Given the description of an element on the screen output the (x, y) to click on. 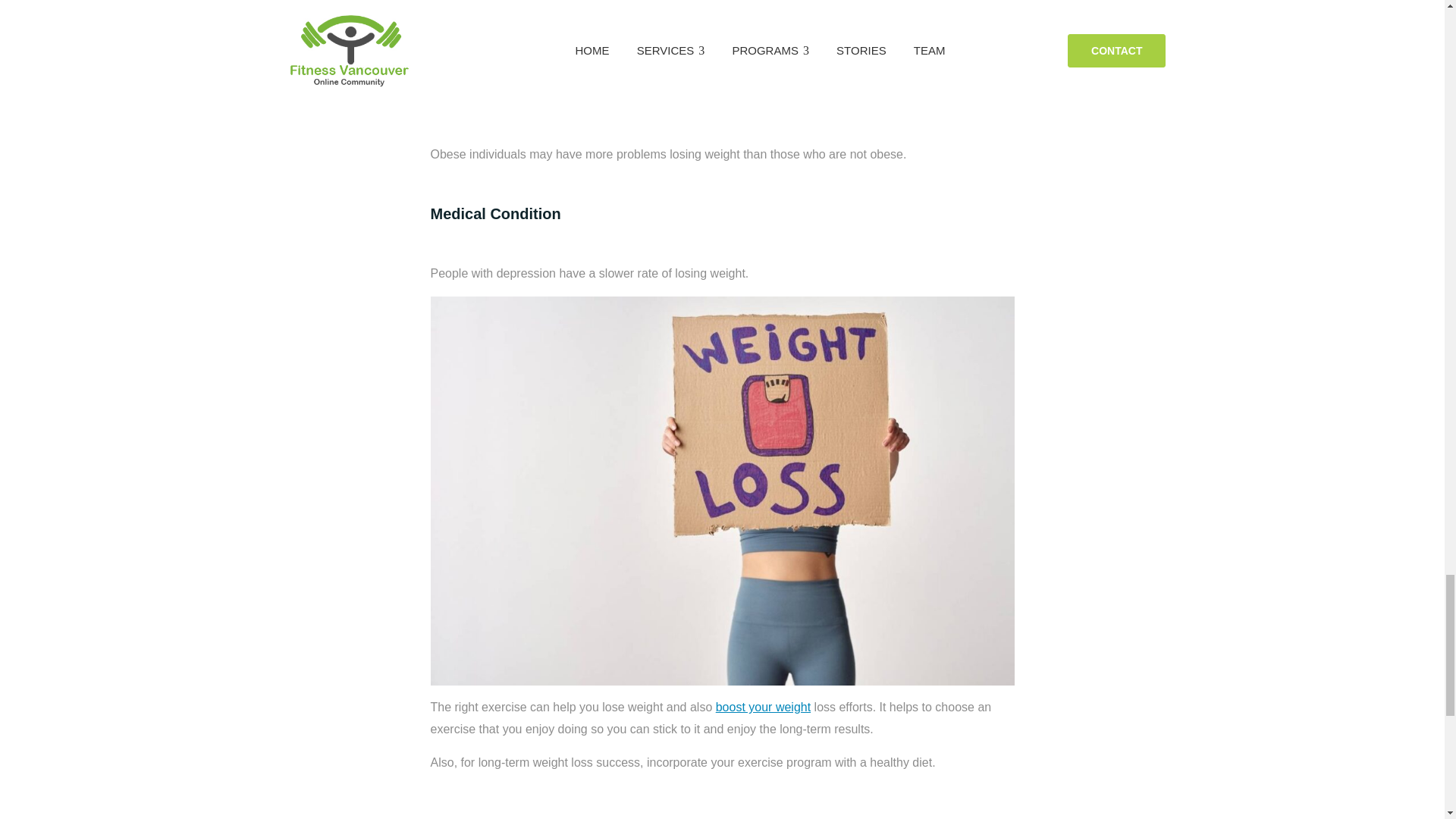
boost your weight (763, 707)
